Given the description of an element on the screen output the (x, y) to click on. 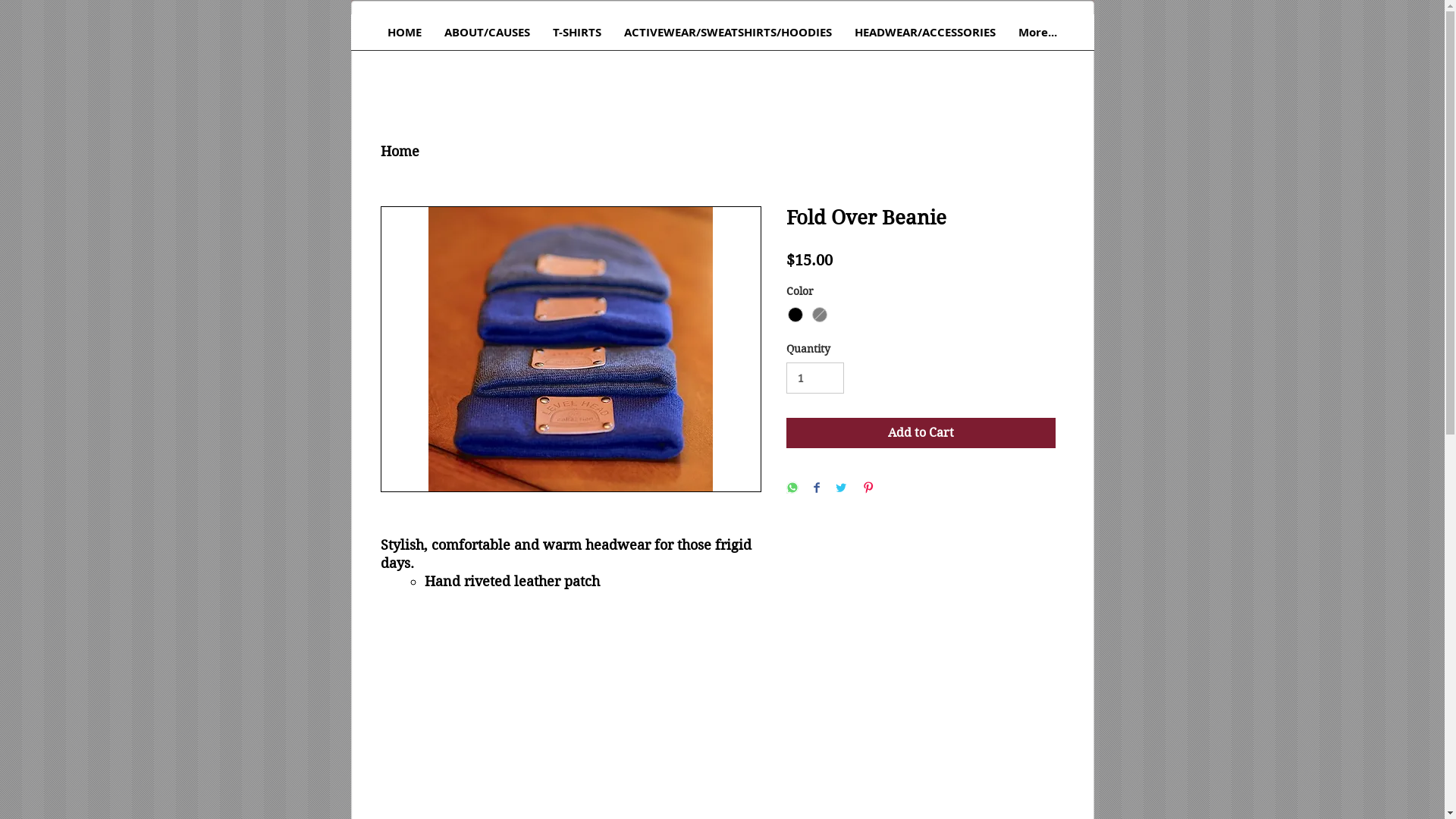
HOME Element type: text (404, 36)
HEADWEAR/ACCESSORIES Element type: text (925, 36)
ABOUT/CAUSES Element type: text (487, 36)
T-SHIRTS Element type: text (576, 36)
ACTIVEWEAR/SWEATSHIRTS/HOODIES Element type: text (727, 36)
Add to Cart Element type: text (919, 432)
Home Element type: text (399, 151)
